Given the description of an element on the screen output the (x, y) to click on. 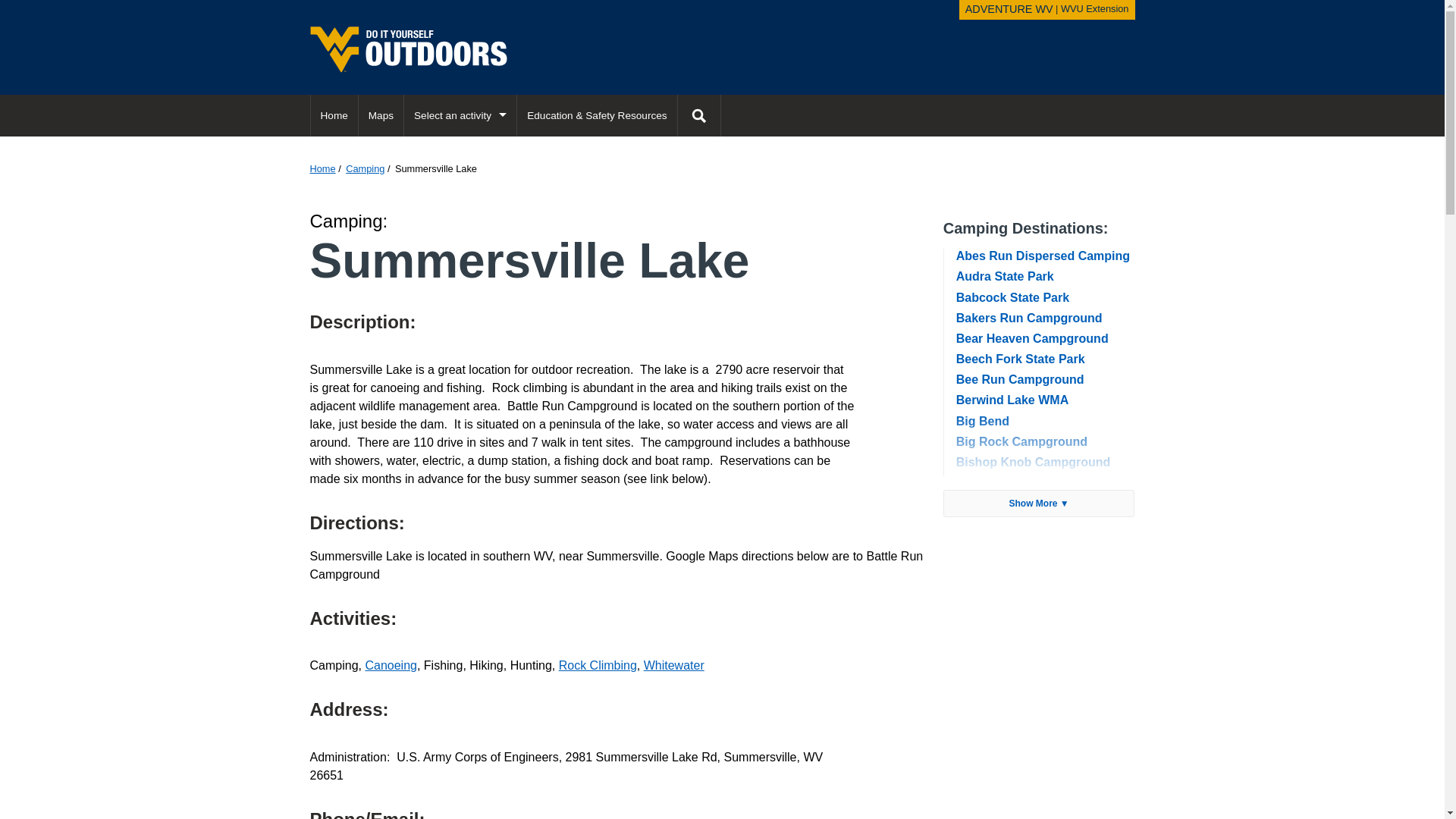
Bee Run Campground (1020, 379)
Big Bend (982, 420)
Beech Fork State Park (1020, 358)
Abes Run Dispersed Camping (1042, 255)
Home (333, 115)
Home (321, 168)
Whitewater (673, 665)
Select an activity (460, 115)
WVU Extension (1095, 8)
Camping (365, 168)
Bear Heaven Campground (1032, 338)
Bakers Run Campground (1029, 318)
Rock Climbing (598, 665)
Audra State Park (1005, 276)
Search Search DIY Outdoors (698, 115)
